Given the description of an element on the screen output the (x, y) to click on. 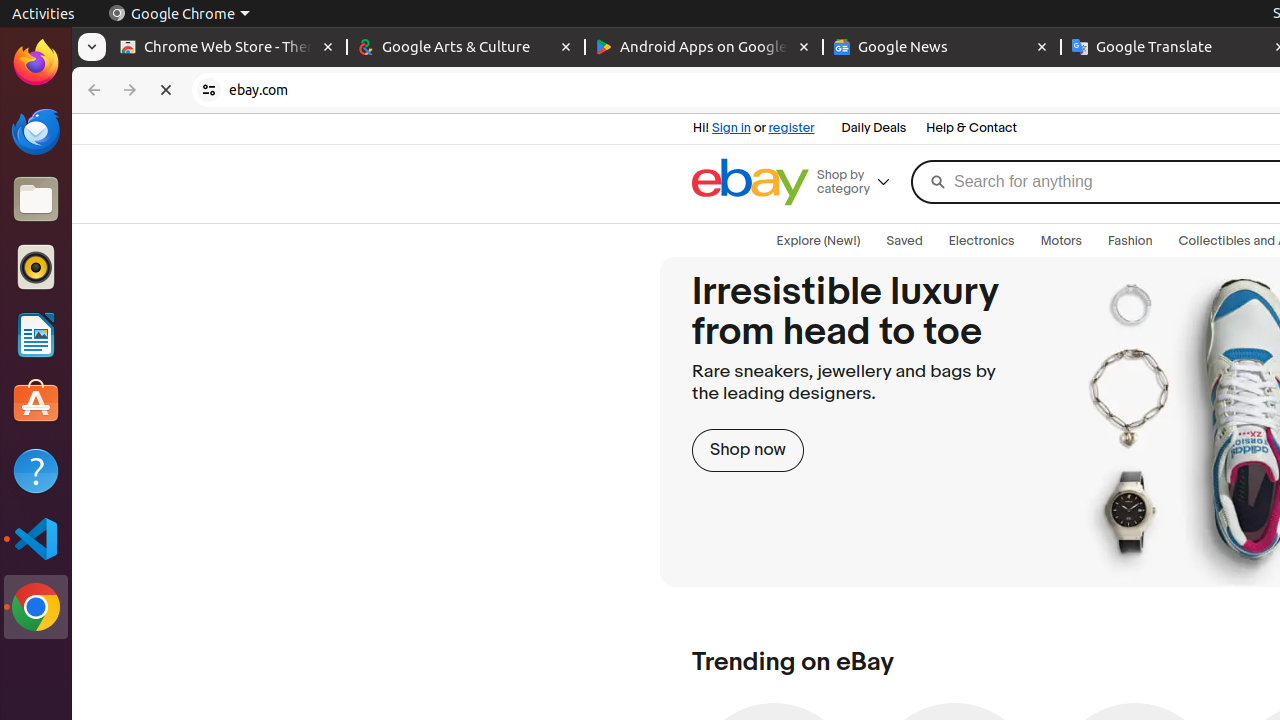
Thunderbird Mail Element type: push-button (36, 131)
Forward Element type: push-button (130, 90)
Rhythmbox Element type: push-button (36, 267)
Back Element type: push-button (91, 90)
Google News - Memory usage - 49.7 MB Element type: page-tab (942, 47)
